Given the description of an element on the screen output the (x, y) to click on. 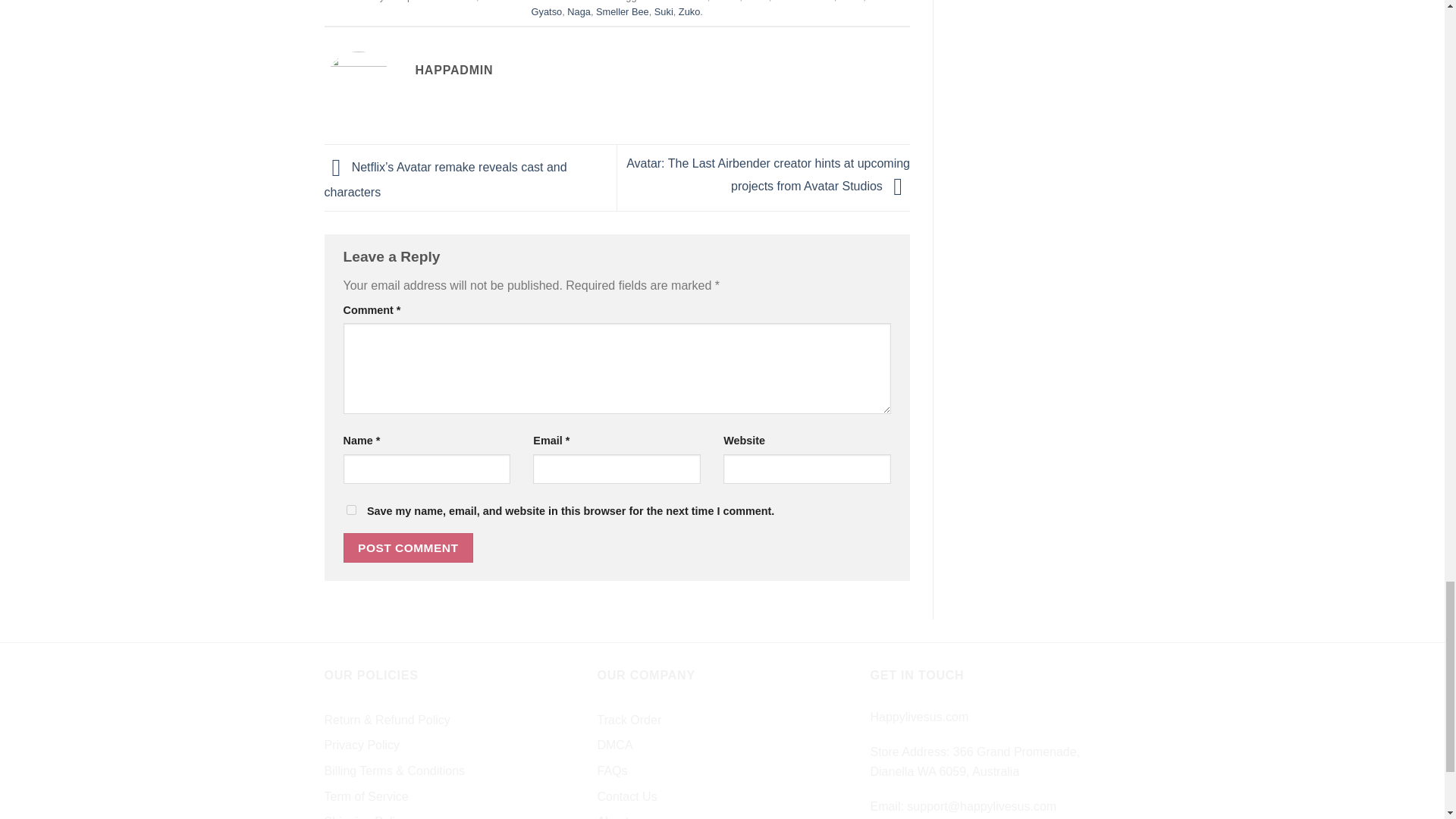
Mako (851, 1)
yes (350, 510)
Zuko (689, 11)
Firelord Sozin (804, 1)
Naga (579, 11)
Suki (662, 11)
Avatar: The Last Airbender (537, 1)
Azula (756, 1)
Anime (462, 1)
Avatar (725, 1)
